Given the description of an element on the screen output the (x, y) to click on. 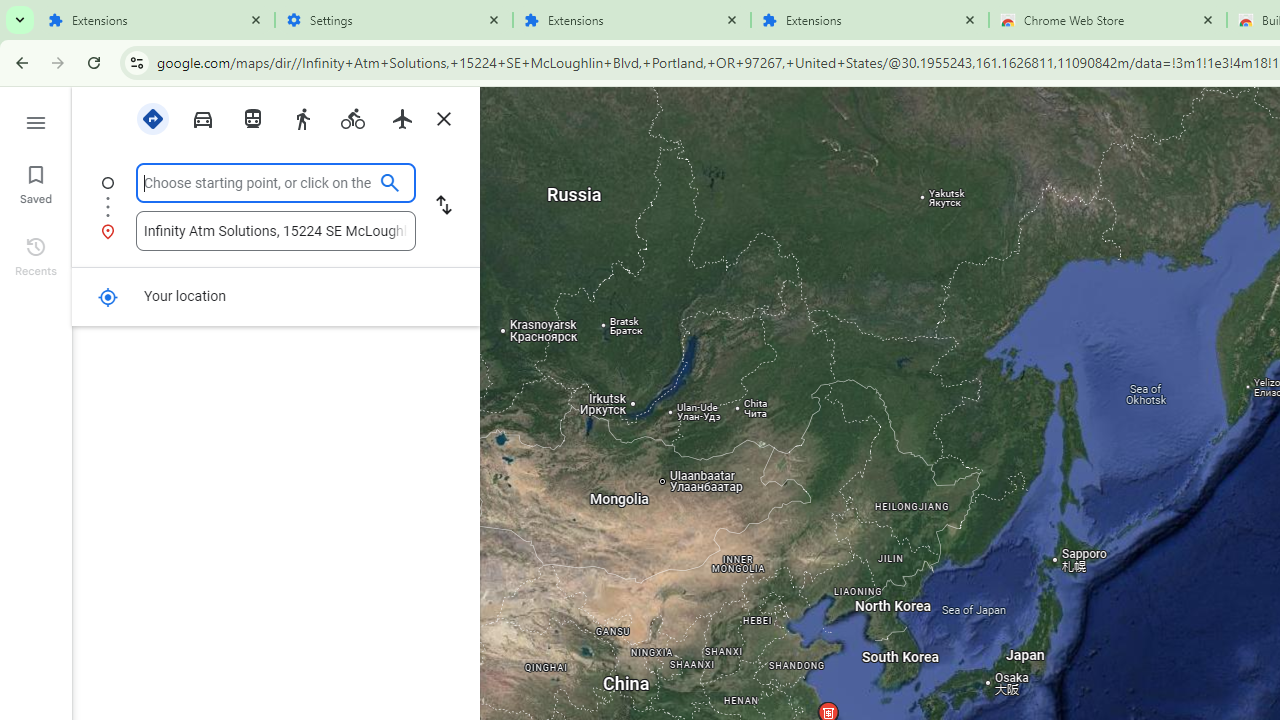
Saved (35, 182)
Driving (202, 117)
Extensions (870, 20)
Walking (302, 117)
Close directions (443, 119)
AutomationID: sb_ifc51 (275, 230)
Extensions (156, 20)
Driving (202, 119)
Reverse starting point and destination (444, 206)
Reload (93, 62)
Back (19, 62)
Transit (252, 117)
Cycling (352, 119)
